Given the description of an element on the screen output the (x, y) to click on. 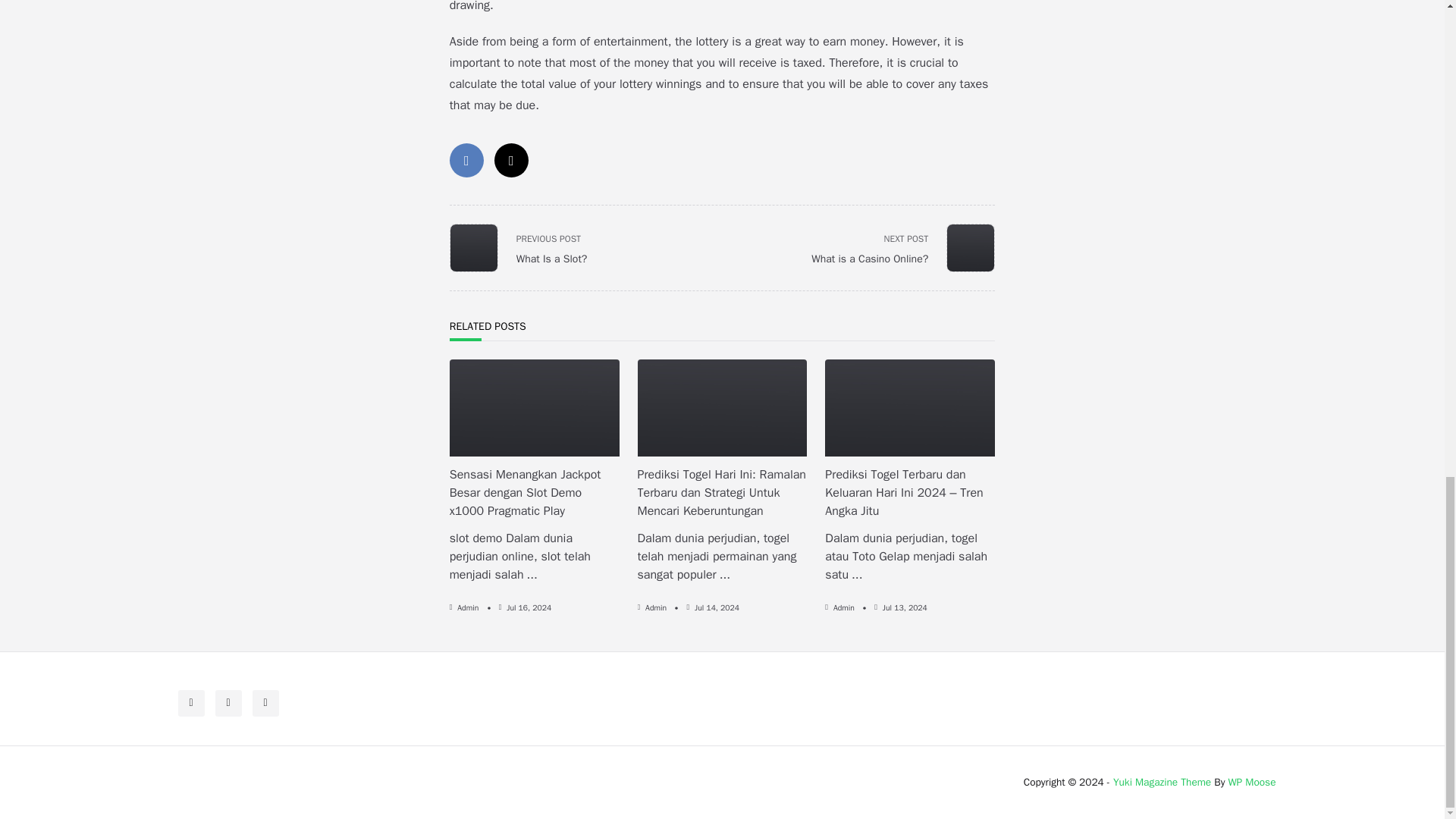
Jul 16, 2024 (528, 607)
Admin (899, 247)
